Given the description of an element on the screen output the (x, y) to click on. 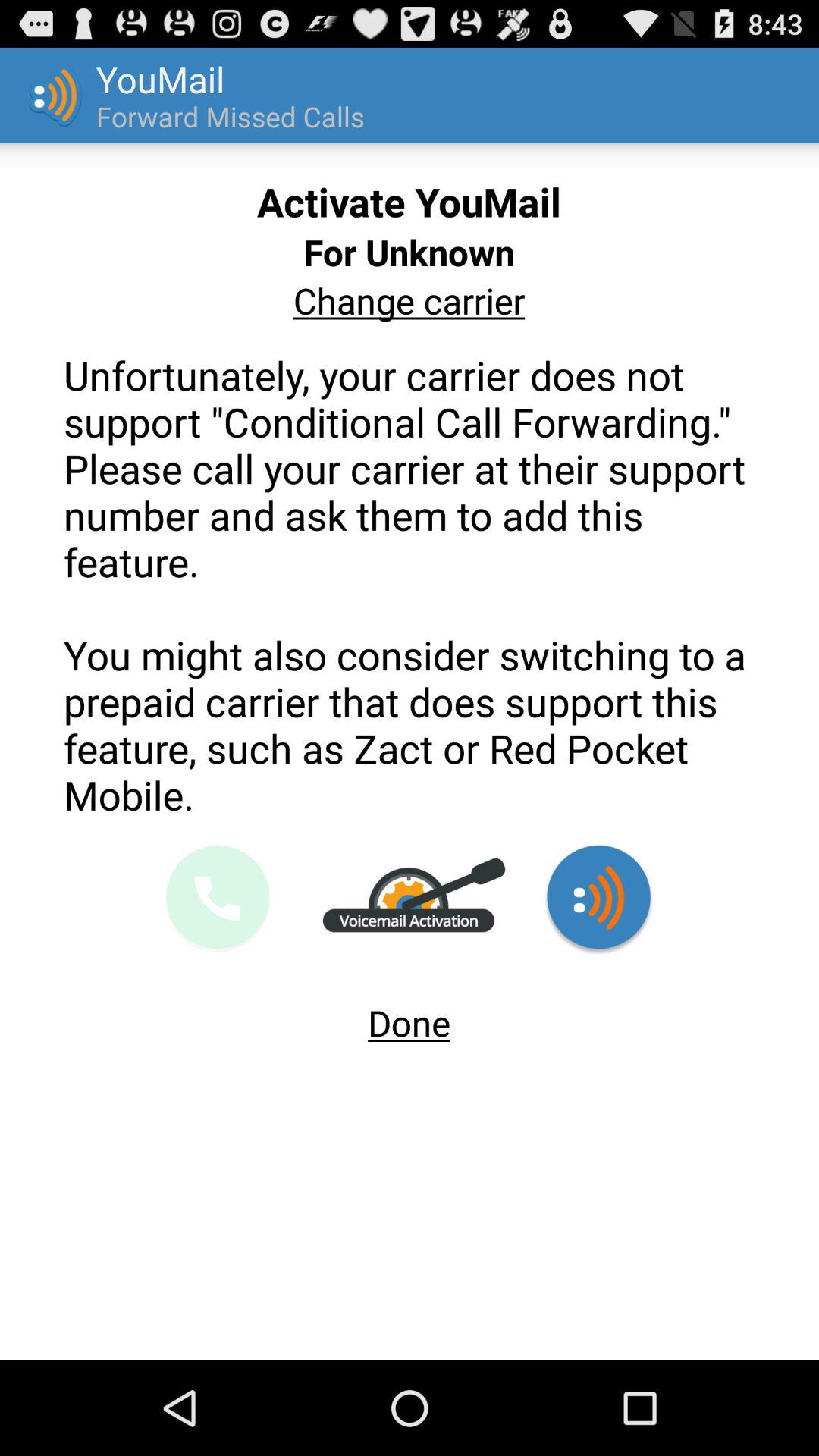
choose the change carrier app (409, 300)
